Given the description of an element on the screen output the (x, y) to click on. 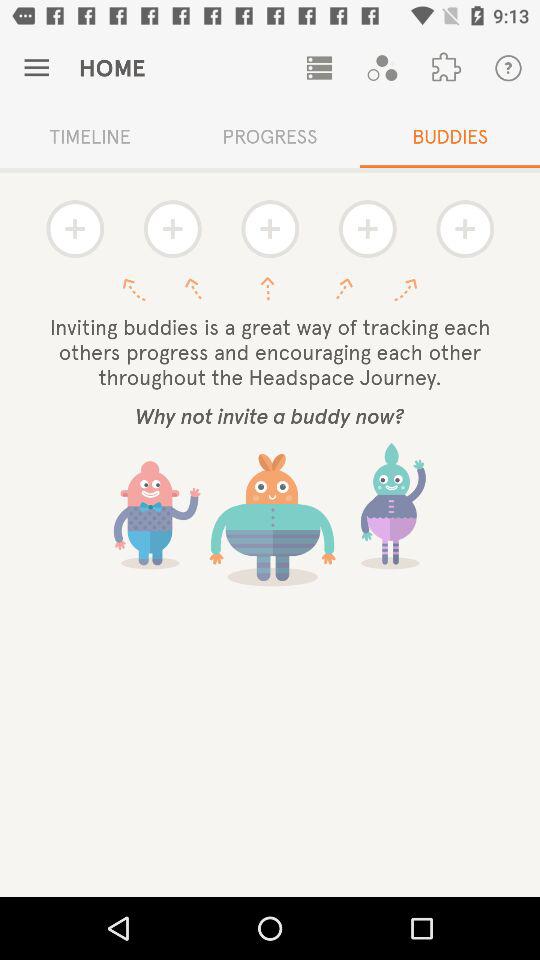
tap item next to home item (319, 67)
